Given the description of an element on the screen output the (x, y) to click on. 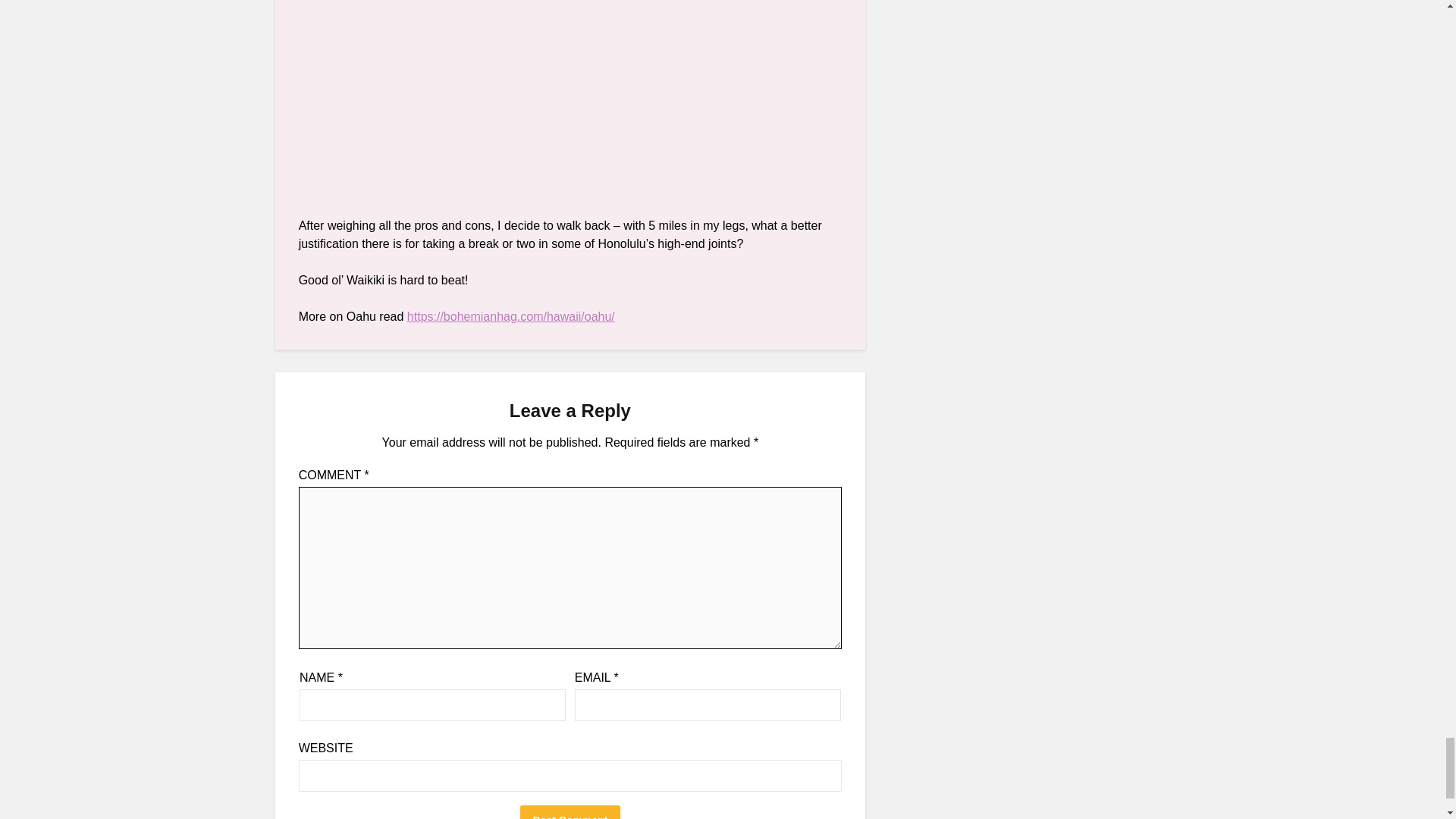
Post Comment (570, 812)
